Given the description of an element on the screen output the (x, y) to click on. 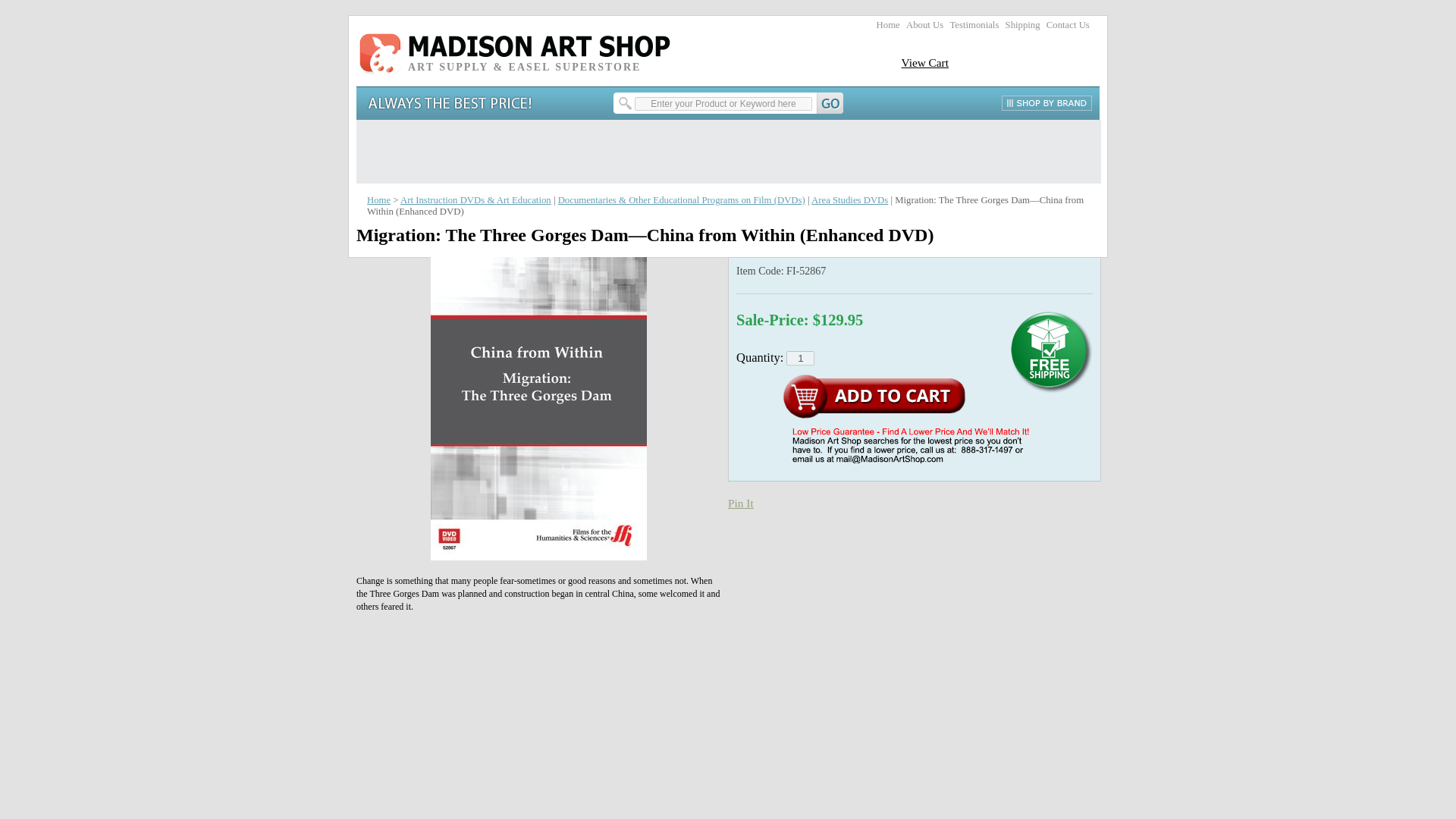
1 (799, 358)
Area Studies DVDs (849, 199)
View Cart (925, 62)
Enter your Product or Keyword here (723, 103)
Add to cart (874, 396)
About Us (924, 24)
Contact Us (1067, 24)
Search (729, 102)
Home (887, 24)
Home (378, 199)
Pin It (741, 502)
Shipping (1023, 24)
Testimonials (973, 24)
